Given the description of an element on the screen output the (x, y) to click on. 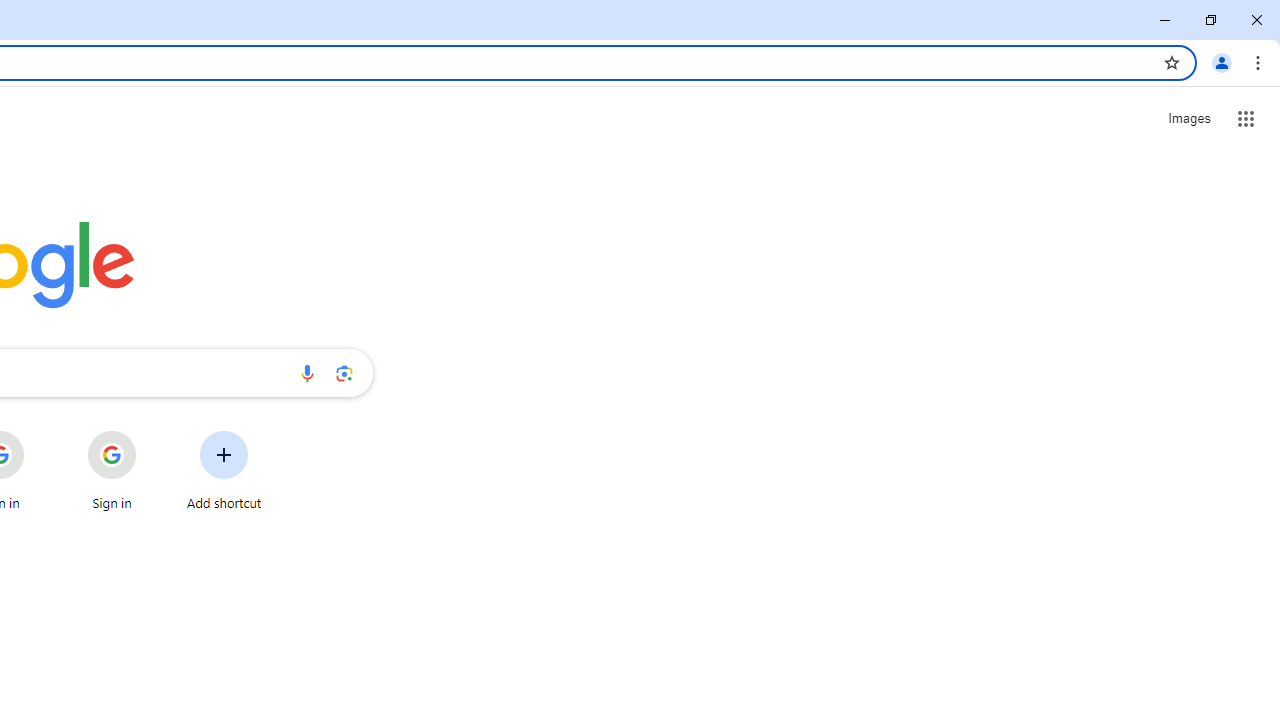
Search by voice (307, 372)
More actions for Sign in shortcut (152, 433)
Add shortcut (223, 470)
Search for Images  (1188, 119)
Search by image (344, 372)
